Given the description of an element on the screen output the (x, y) to click on. 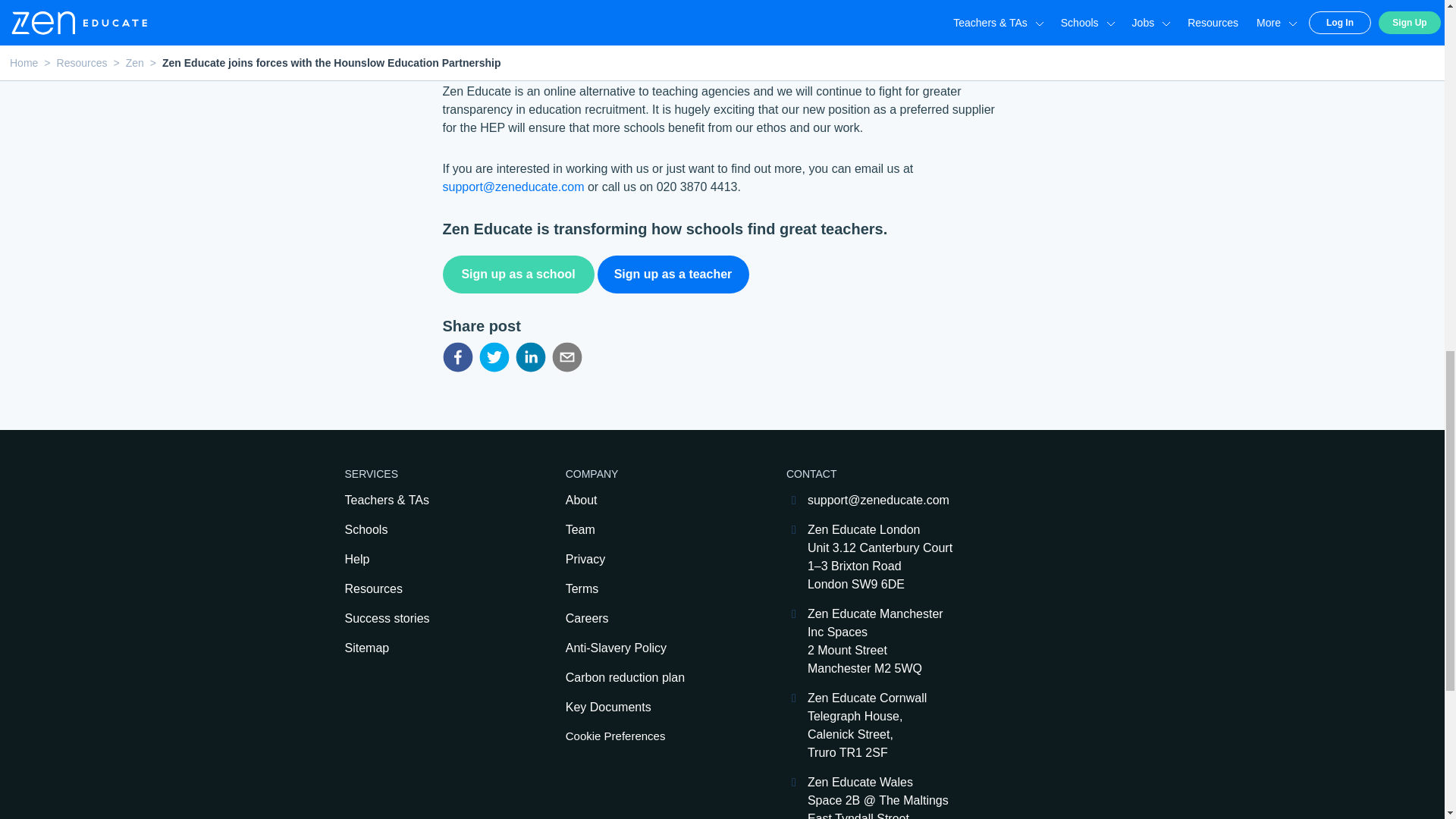
Sign up as a school (518, 274)
Key Documents (649, 707)
Careers (649, 618)
Sitemap (427, 648)
Privacy (649, 559)
Carbon reduction plan (649, 678)
Anti-Slavery Policy (649, 648)
About (649, 500)
Help (427, 559)
Team (649, 529)
Resources (427, 588)
Schools (427, 529)
Cookie Preferences (649, 736)
Success stories (427, 618)
